Given the description of an element on the screen output the (x, y) to click on. 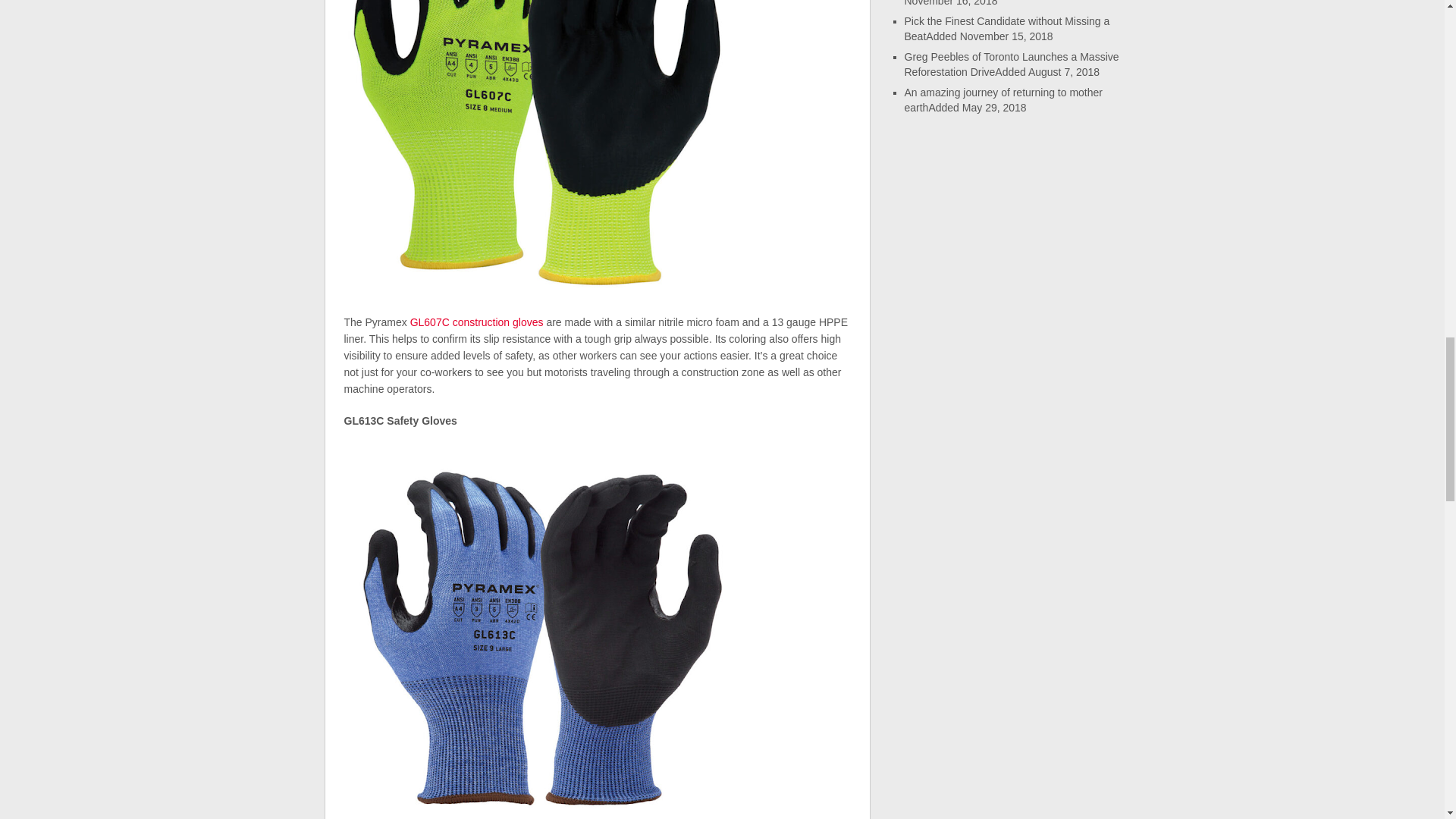
GL607C construction gloves (476, 322)
